Given the description of an element on the screen output the (x, y) to click on. 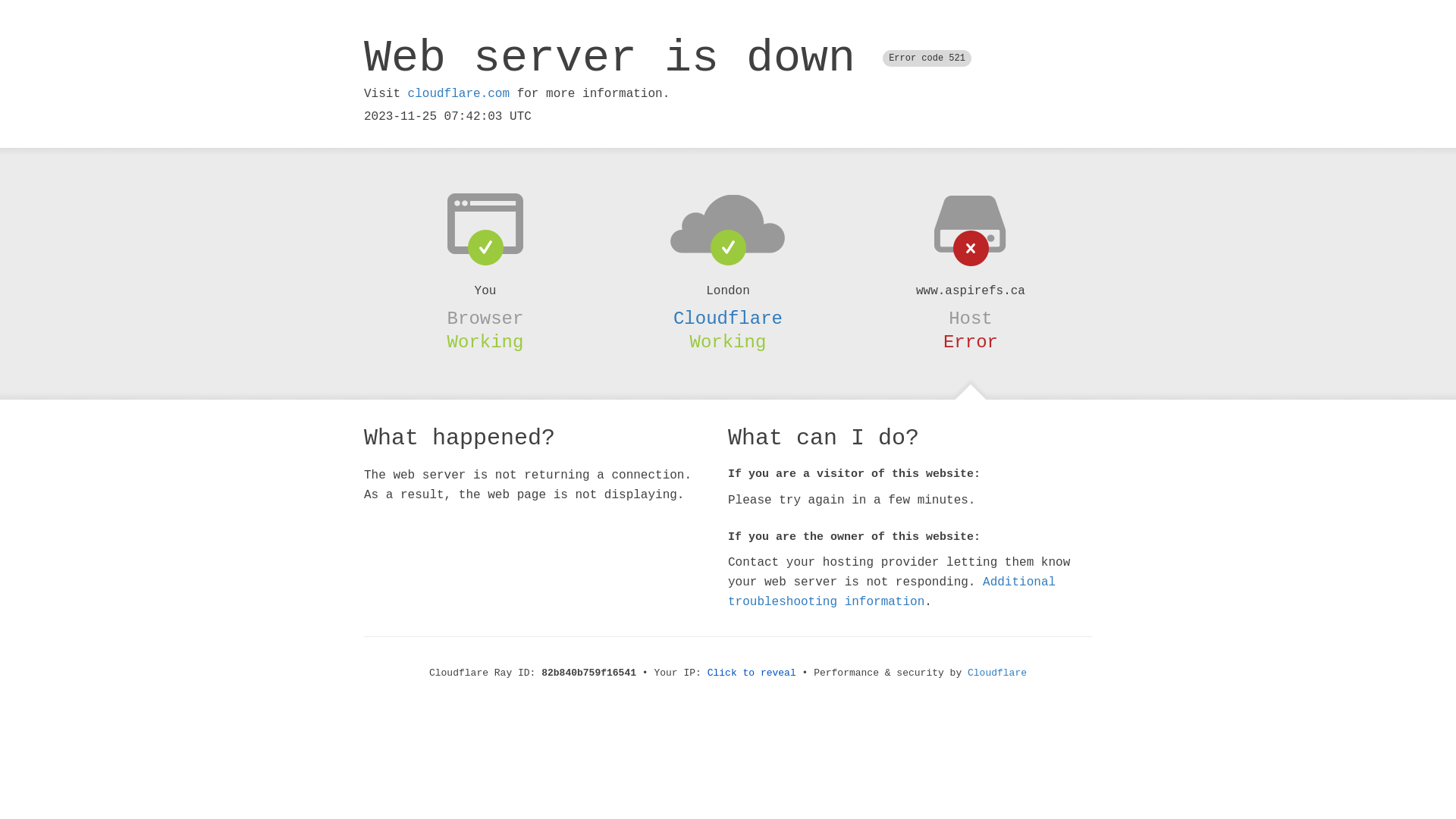
Click to reveal Element type: text (751, 672)
Cloudflare Element type: text (996, 672)
cloudflare.com Element type: text (458, 93)
Additional troubleshooting information Element type: text (891, 591)
Cloudflare Element type: text (727, 318)
